Given the description of an element on the screen output the (x, y) to click on. 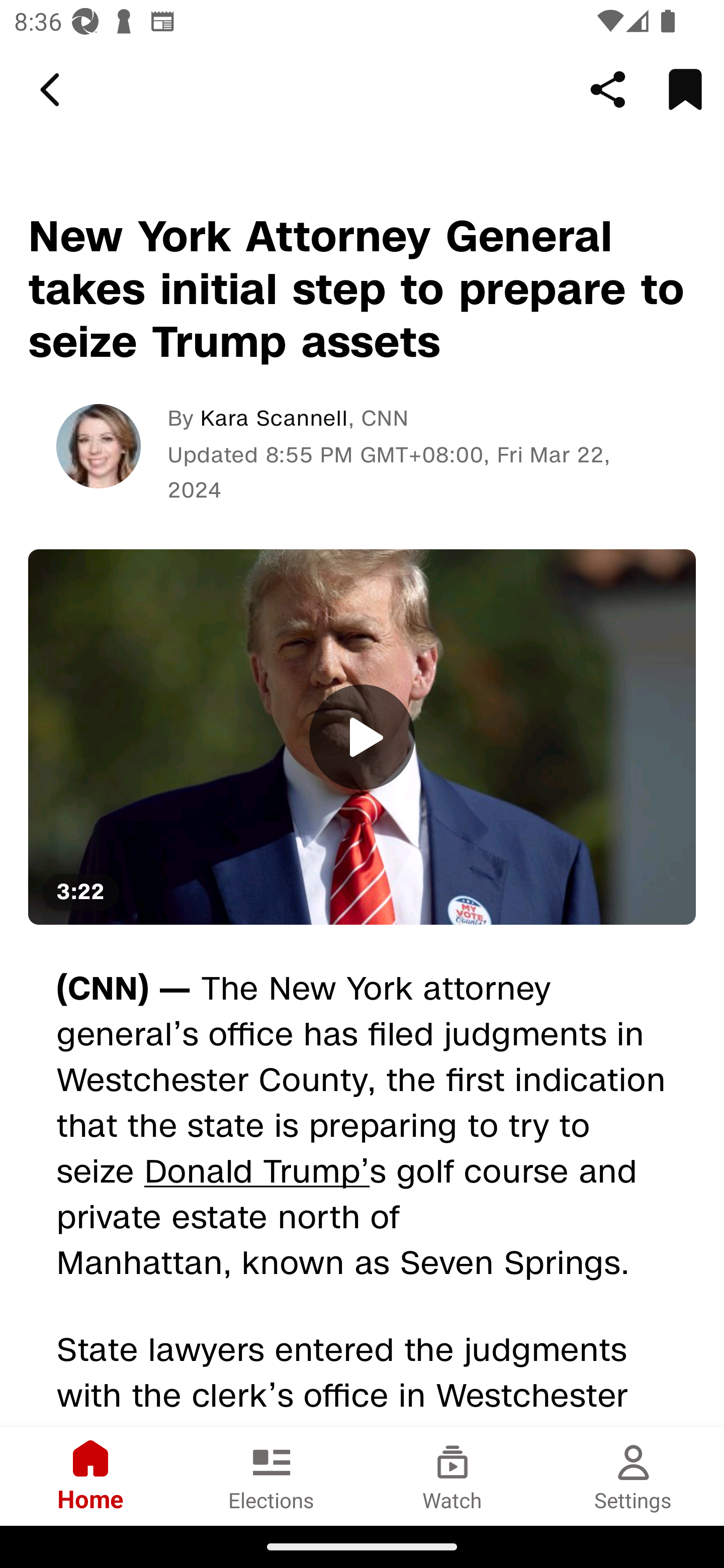
Back Button (52, 89)
Share (607, 89)
Bookmark (685, 89)
Elections (271, 1475)
Watch (452, 1475)
Settings (633, 1475)
